Given the description of an element on the screen output the (x, y) to click on. 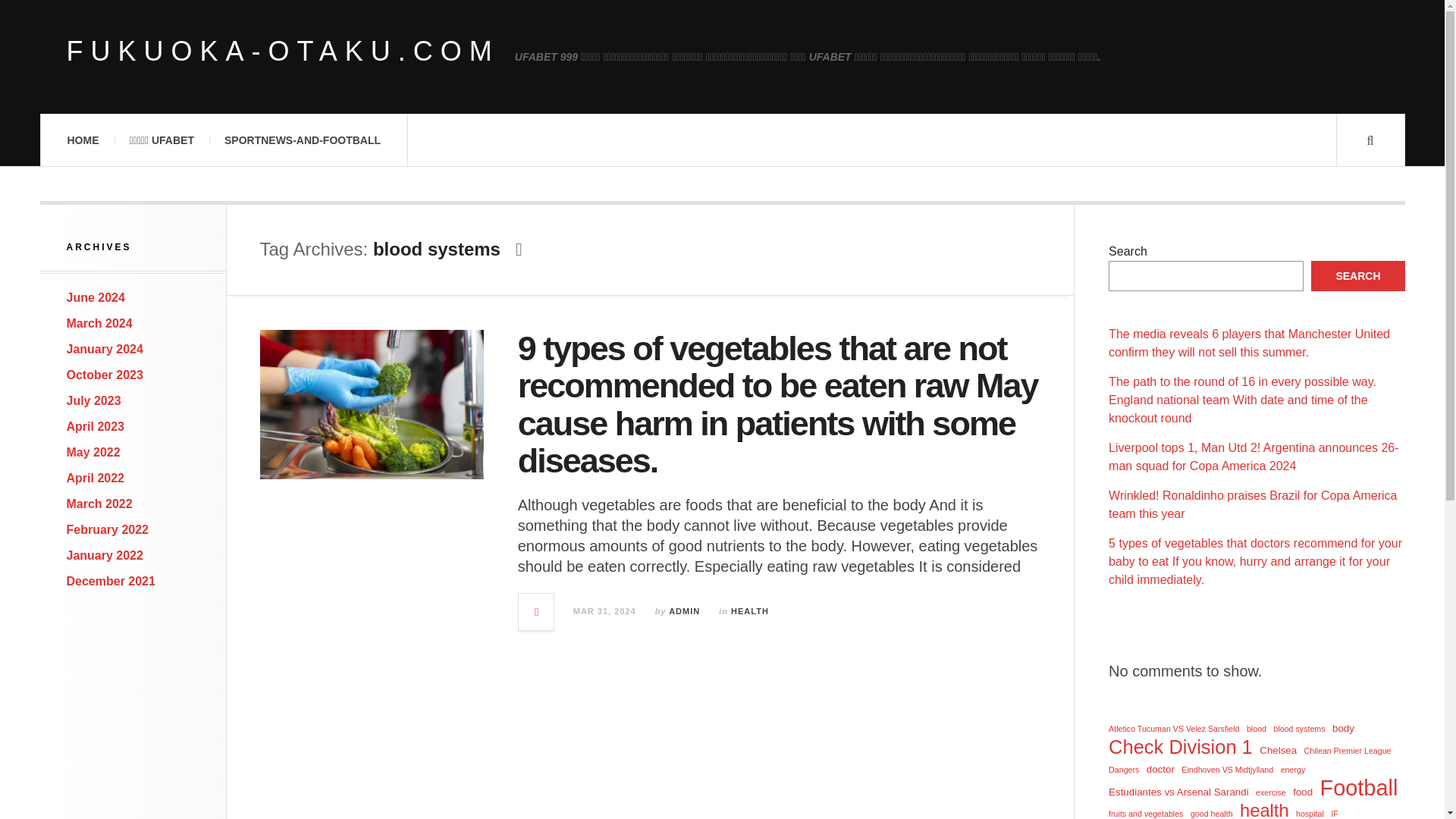
March 2024 (99, 323)
Chelsea (1278, 751)
View all posts in Health (749, 610)
April 2023 (94, 426)
May 2022 (93, 451)
Check Division 1 (1180, 746)
April 2022 (94, 477)
ADMIN (684, 610)
FUKUOKA-OTAKU.COM (282, 51)
